Given the description of an element on the screen output the (x, y) to click on. 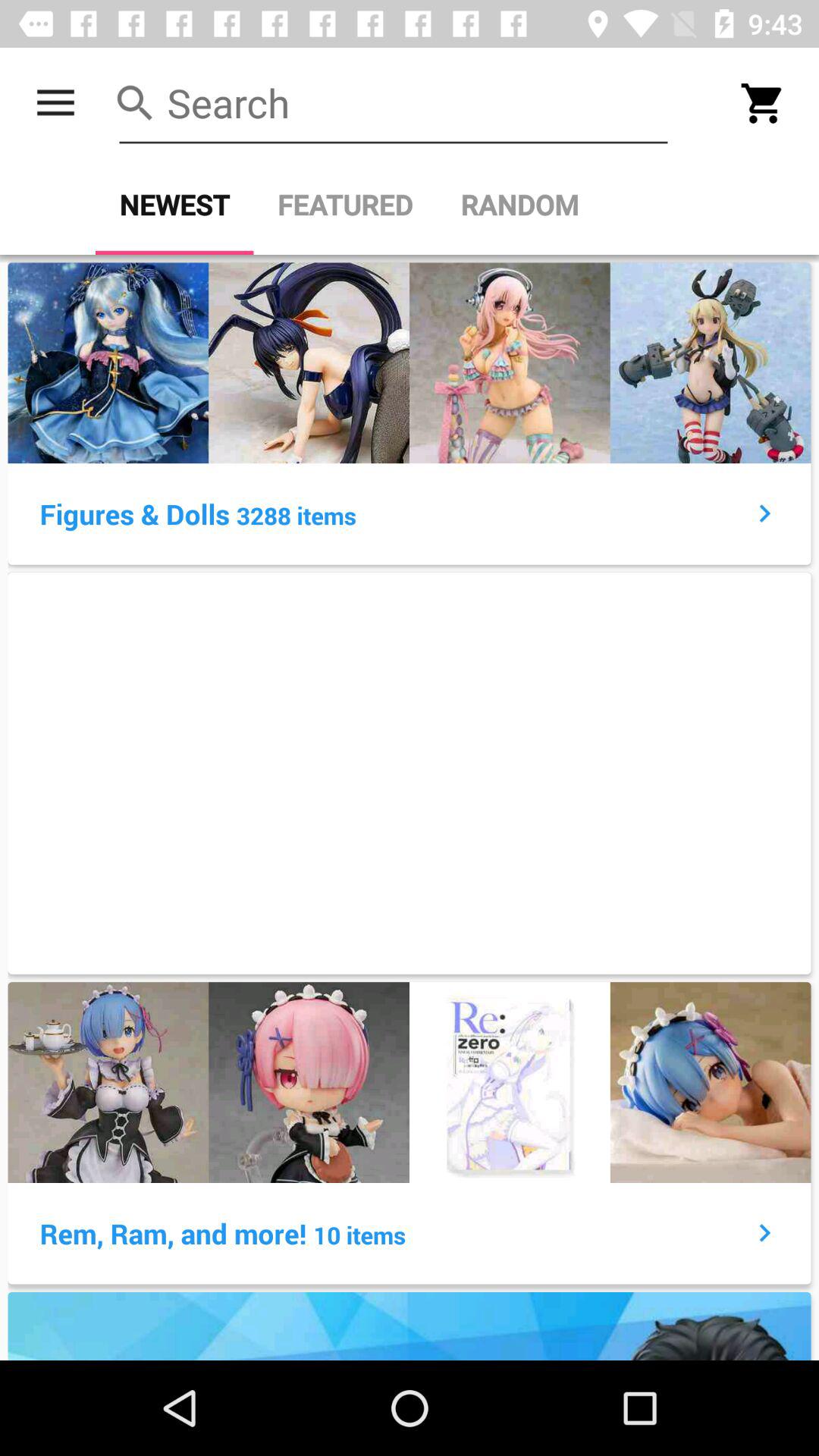
jump to the newest item (174, 204)
